Given the description of an element on the screen output the (x, y) to click on. 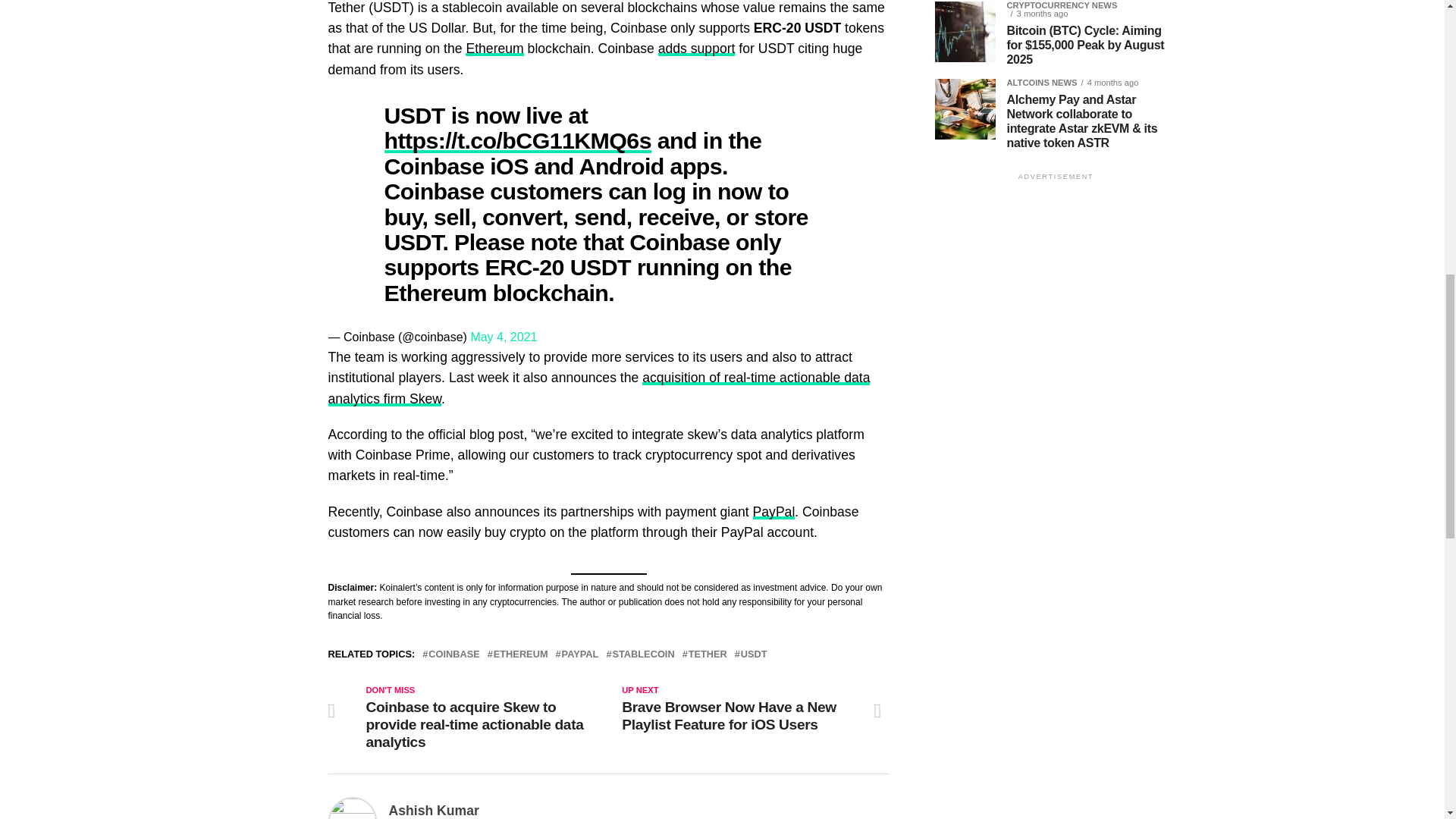
Posts by Ashish Kumar (433, 810)
